Given the description of an element on the screen output the (x, y) to click on. 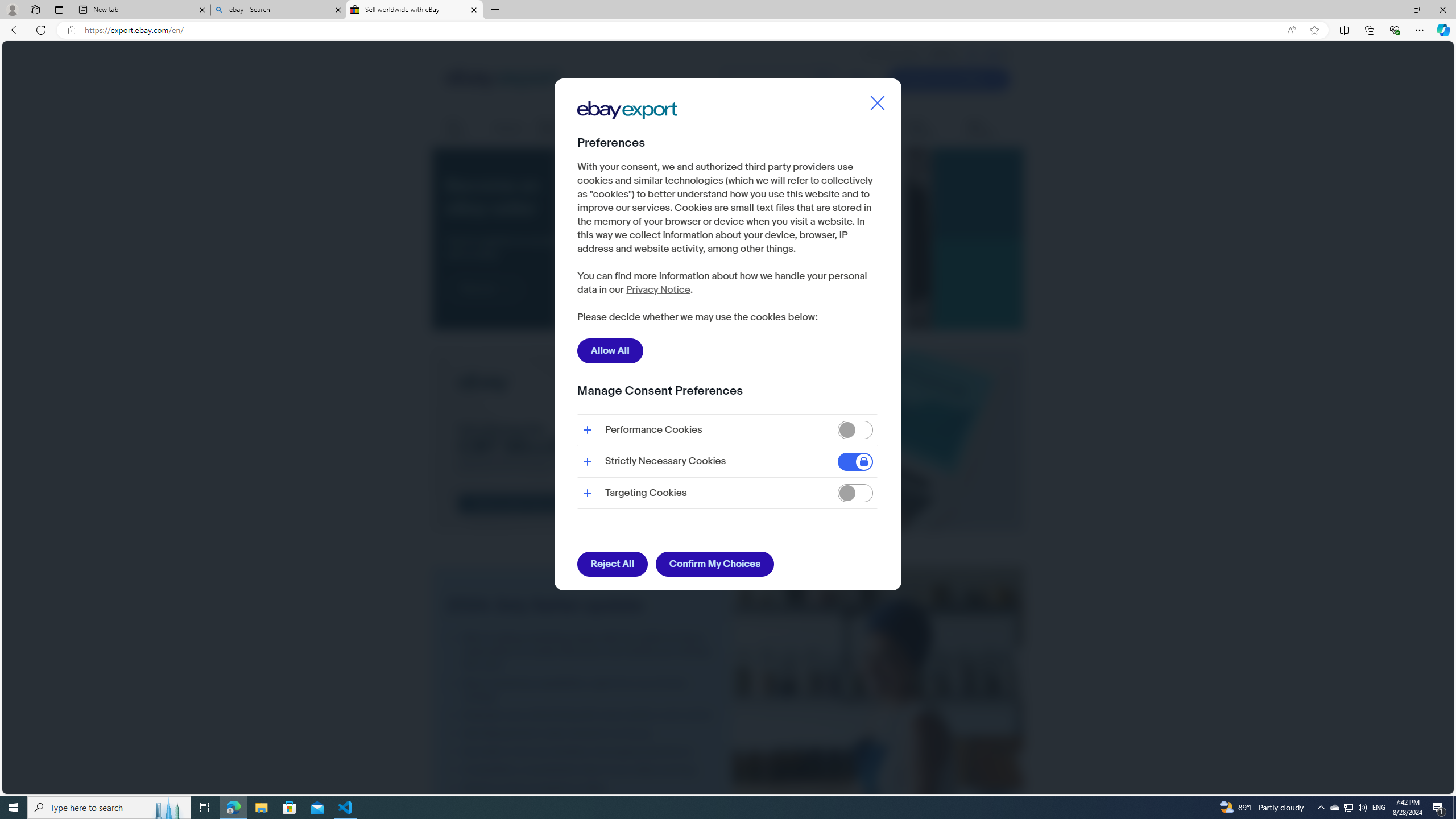
Address and search bar (680, 29)
Manage listings (562, 128)
eBay Partners (988, 128)
CBT Web Banner.jpeg (727, 441)
Marketing (874, 127)
Customise my choices (645, 317)
Class: search-input__btn (823, 79)
Privacy Notice (658, 290)
Strictly Necessary Cookies Always Active (726, 461)
IN (972, 53)
